Given the description of an element on the screen output the (x, y) to click on. 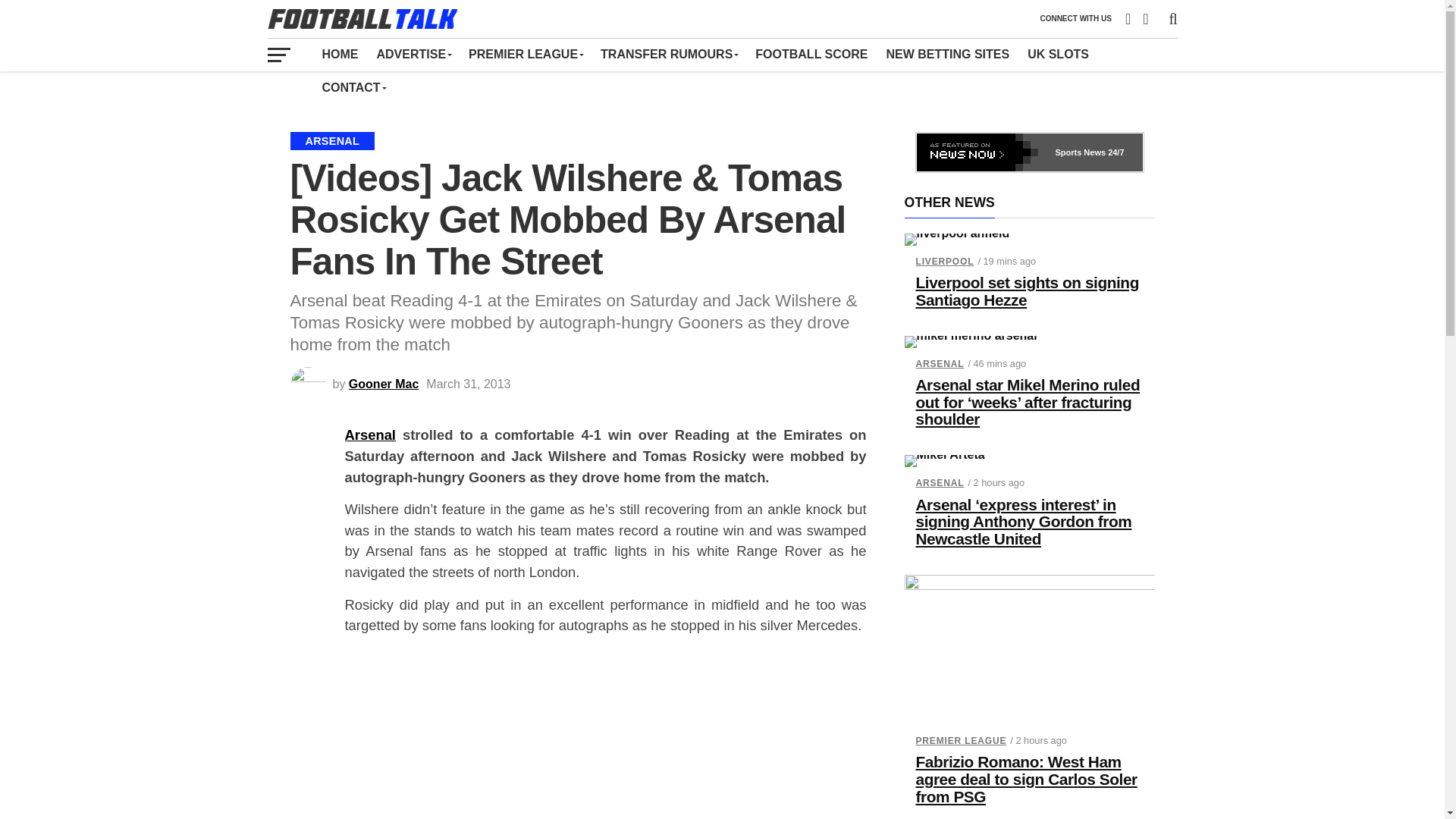
Premier League News (525, 54)
Advertise on Football-Talk (413, 54)
HOME (339, 54)
PREMIER LEAGUE (525, 54)
ADVERTISE (413, 54)
